Given the description of an element on the screen output the (x, y) to click on. 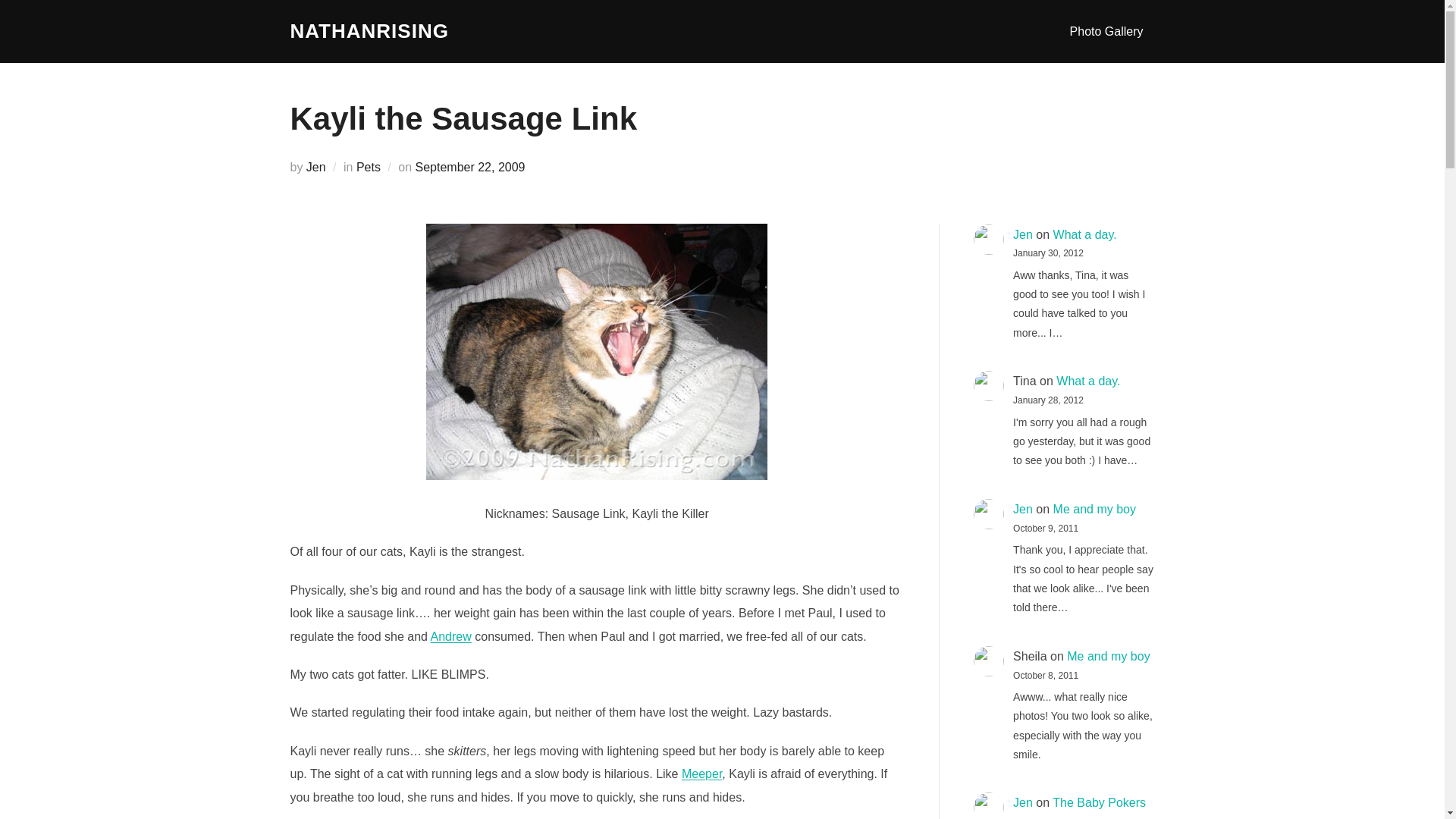
Photo Gallery (1106, 30)
September 22, 2009 (469, 166)
Yawning (596, 351)
Pets (368, 166)
Jen (1022, 508)
Jen (315, 166)
Me and my boy (1093, 508)
What a day. (1084, 234)
Jen (1022, 234)
Me and my boy (1108, 656)
